Given the description of an element on the screen output the (x, y) to click on. 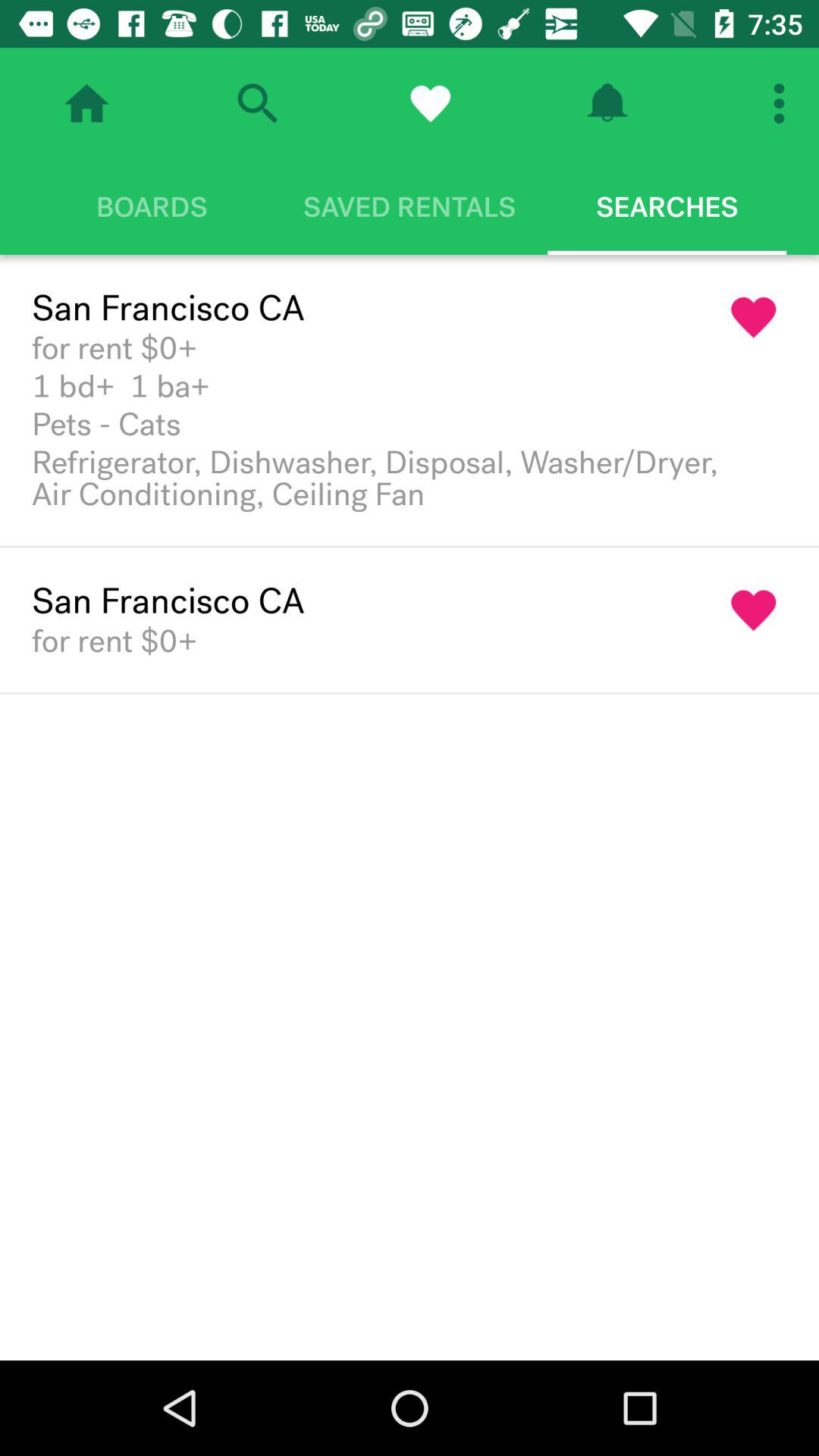
save favorite (429, 103)
